Given the description of an element on the screen output the (x, y) to click on. 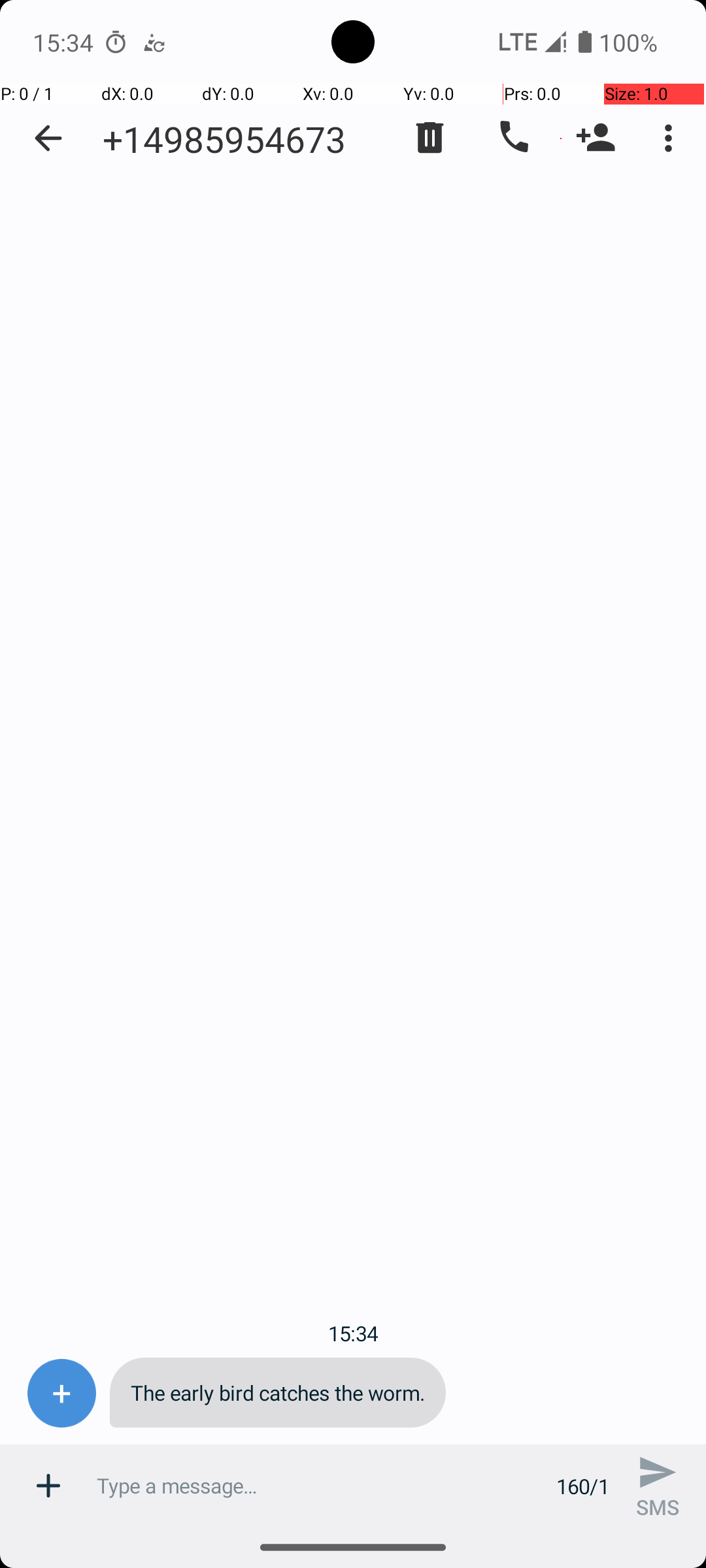
+14985954673 Element type: android.widget.TextView (223, 138)
160/1 Element type: android.widget.TextView (582, 1485)
The early bird catches the worm. Element type: android.widget.TextView (277, 1392)
